Given the description of an element on the screen output the (x, y) to click on. 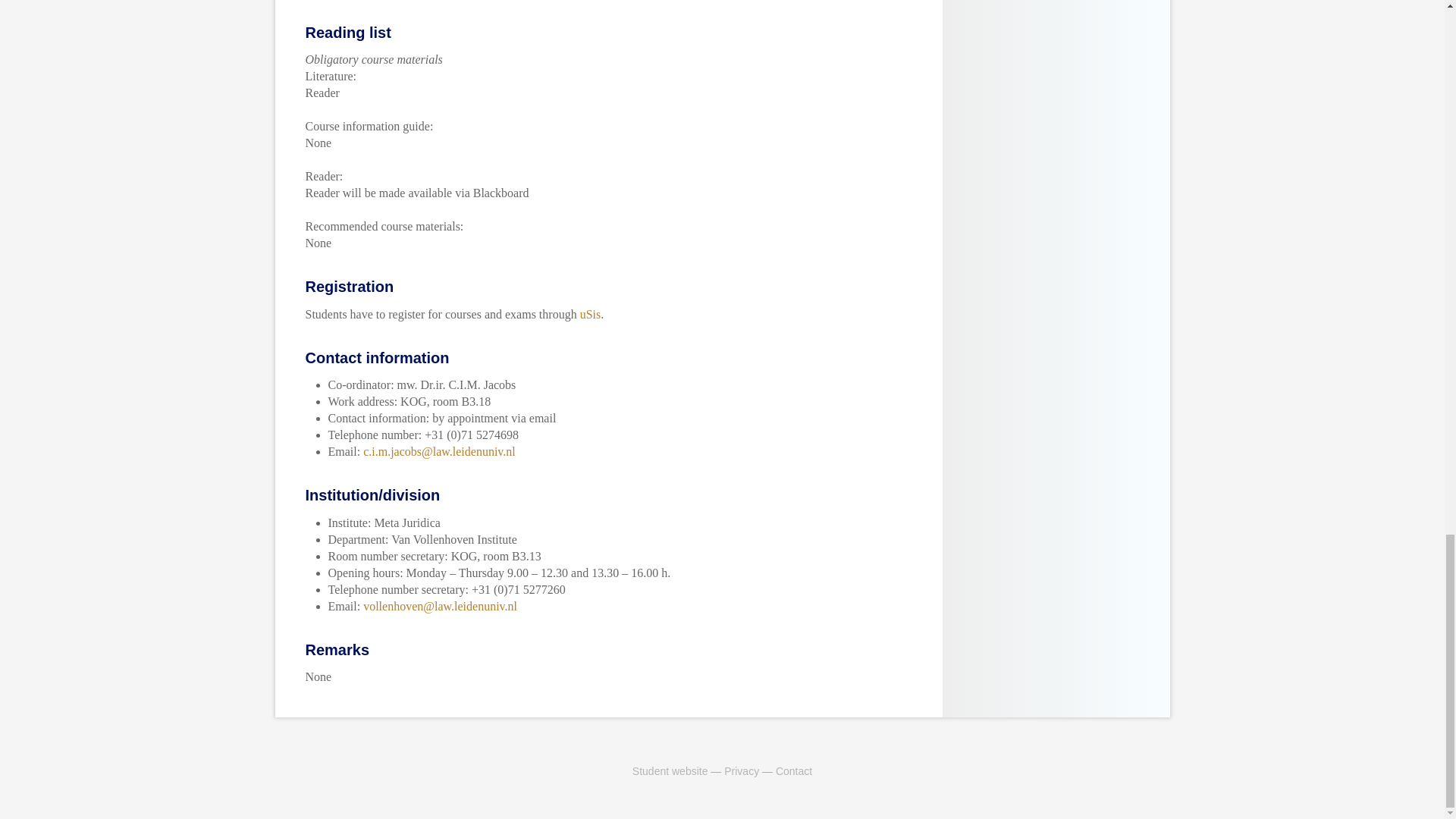
Privacy (740, 770)
Student website (669, 770)
uSis (590, 314)
Contact (794, 770)
